Given the description of an element on the screen output the (x, y) to click on. 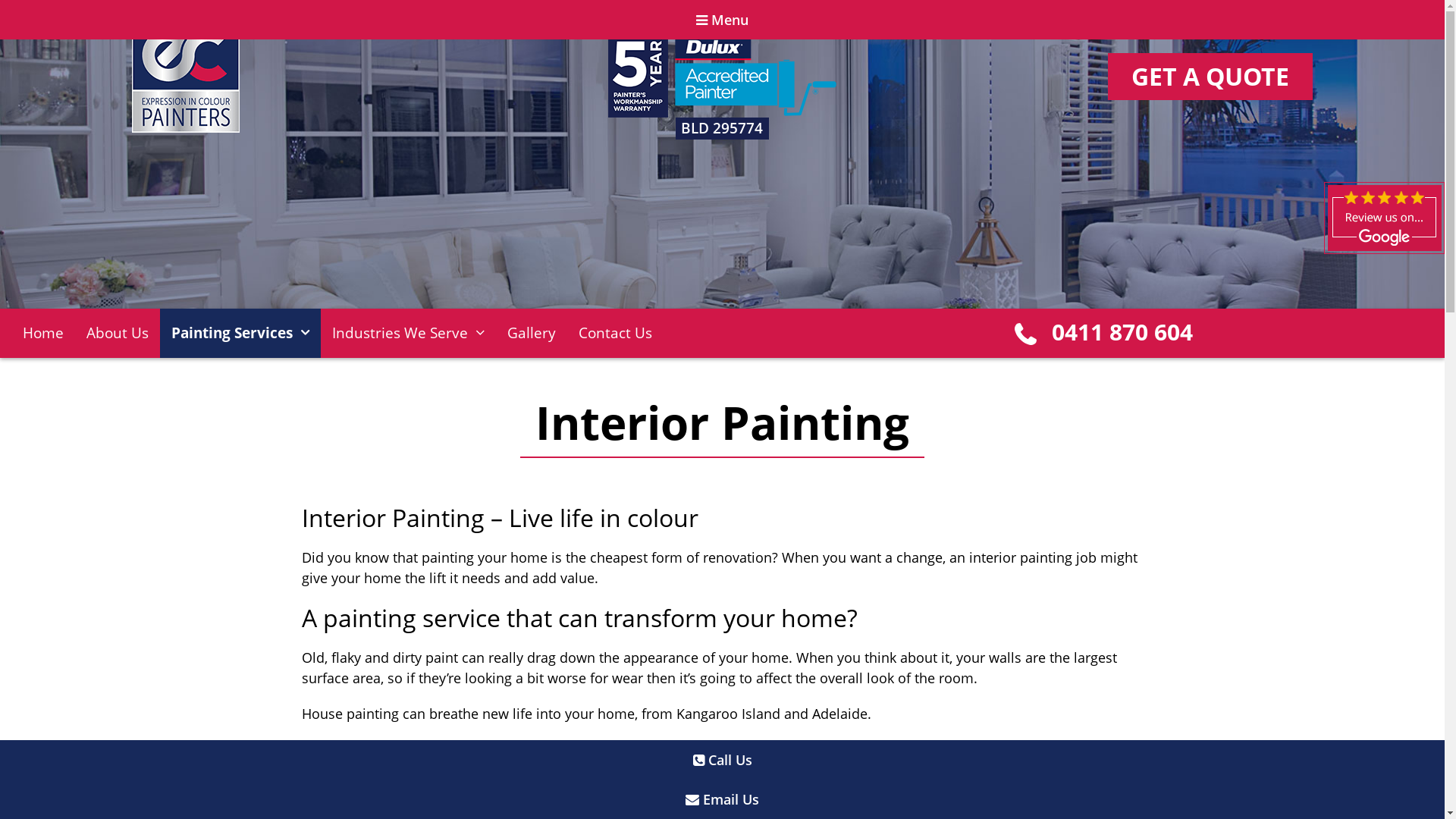
Gallery Element type: text (531, 332)
Industries We Serve Element type: text (407, 332)
Home Element type: text (43, 332)
Menu Element type: text (722, 19)
Contact Us Element type: text (615, 332)
0411 870 604 Element type: text (1121, 331)
About Us Element type: text (117, 332)
GET A QUOTE Element type: text (1209, 76)
Painting Services Element type: text (240, 332)
Call Us Element type: text (722, 759)
